Given the description of an element on the screen output the (x, y) to click on. 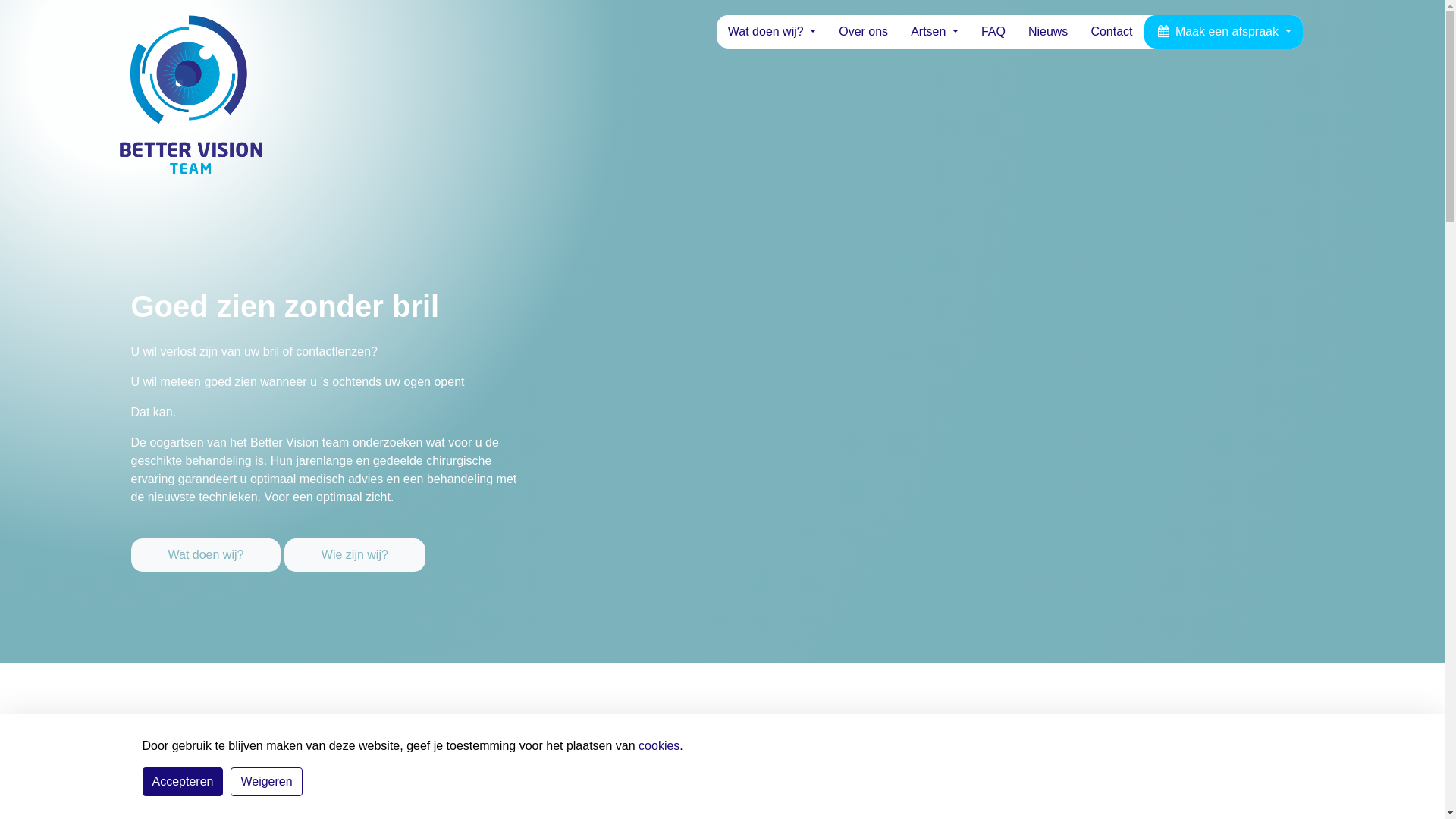
Artsen Element type: text (934, 31)
Wie zijn wij? Element type: text (354, 554)
Maak een afspraak Element type: text (1223, 31)
Contact Element type: text (1111, 31)
Accepteren Element type: text (182, 781)
Wat doen wij? Element type: text (771, 31)
Over ons Element type: text (863, 31)
Wat doen wij? Element type: text (206, 543)
Nieuws Element type: text (1047, 31)
cookies Element type: text (658, 745)
Wie zijn wij? Element type: text (354, 543)
Weigeren Element type: text (265, 781)
Wat doen wij? Element type: text (205, 554)
FAQ Element type: text (992, 31)
